Given the description of an element on the screen output the (x, y) to click on. 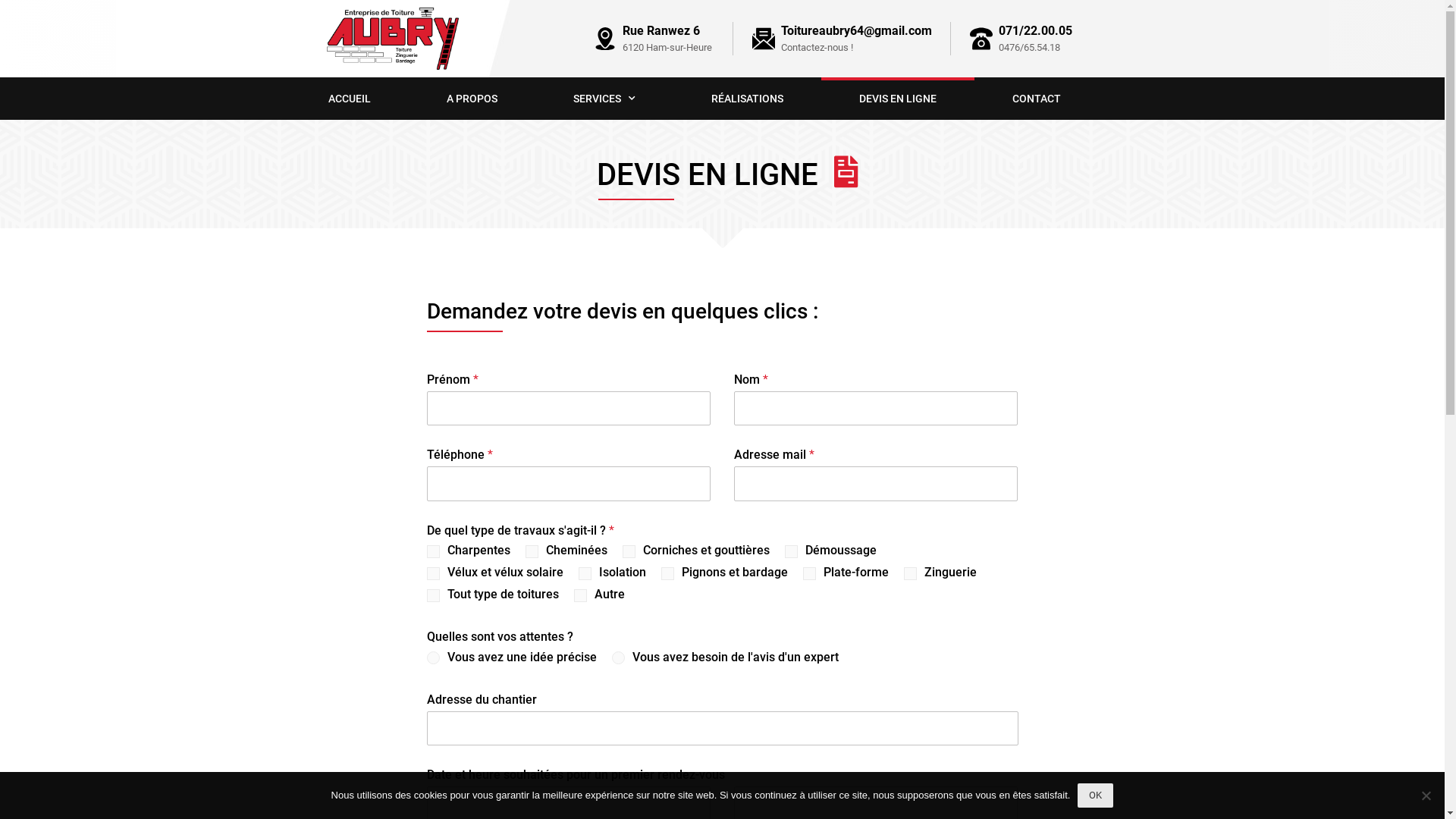
ACCUEIL Element type: text (348, 98)
A PROPOS Element type: text (470, 98)
OK Element type: text (1095, 795)
SERVICES Element type: text (604, 98)
DEVIS EN LIGNE Element type: text (896, 98)
0476/65.54.18 Element type: text (1029, 47)
071/22.00.05 Element type: text (1035, 30)
CONTACT Element type: text (1035, 98)
Rue Ranwez 6 Element type: text (660, 30)
No Element type: hover (1425, 795)
Toitureaubry64@gmail.com Element type: text (856, 30)
